Given the description of an element on the screen output the (x, y) to click on. 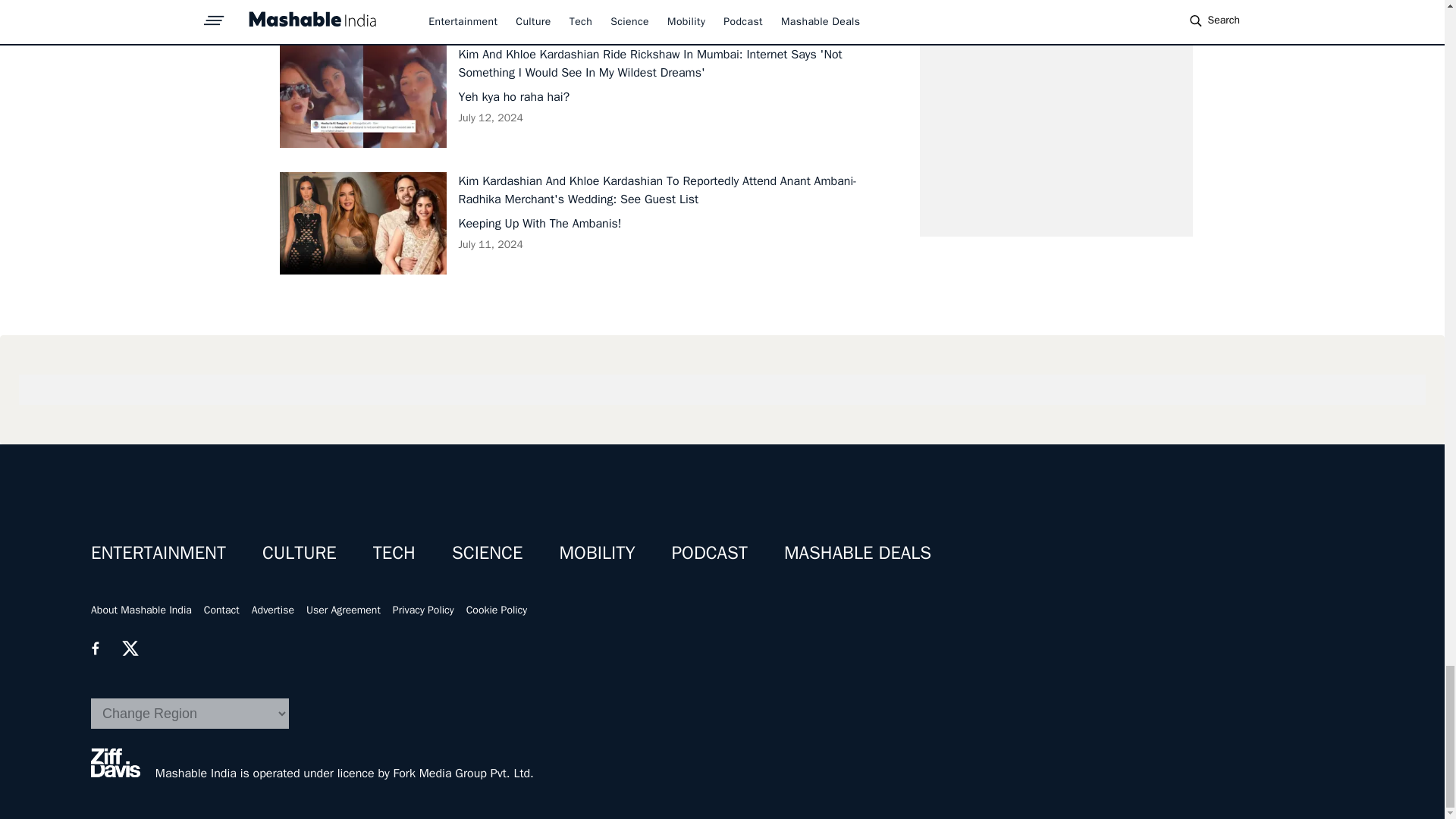
CULTURE (299, 552)
ENTERTAINMENT (157, 552)
